Given the description of an element on the screen output the (x, y) to click on. 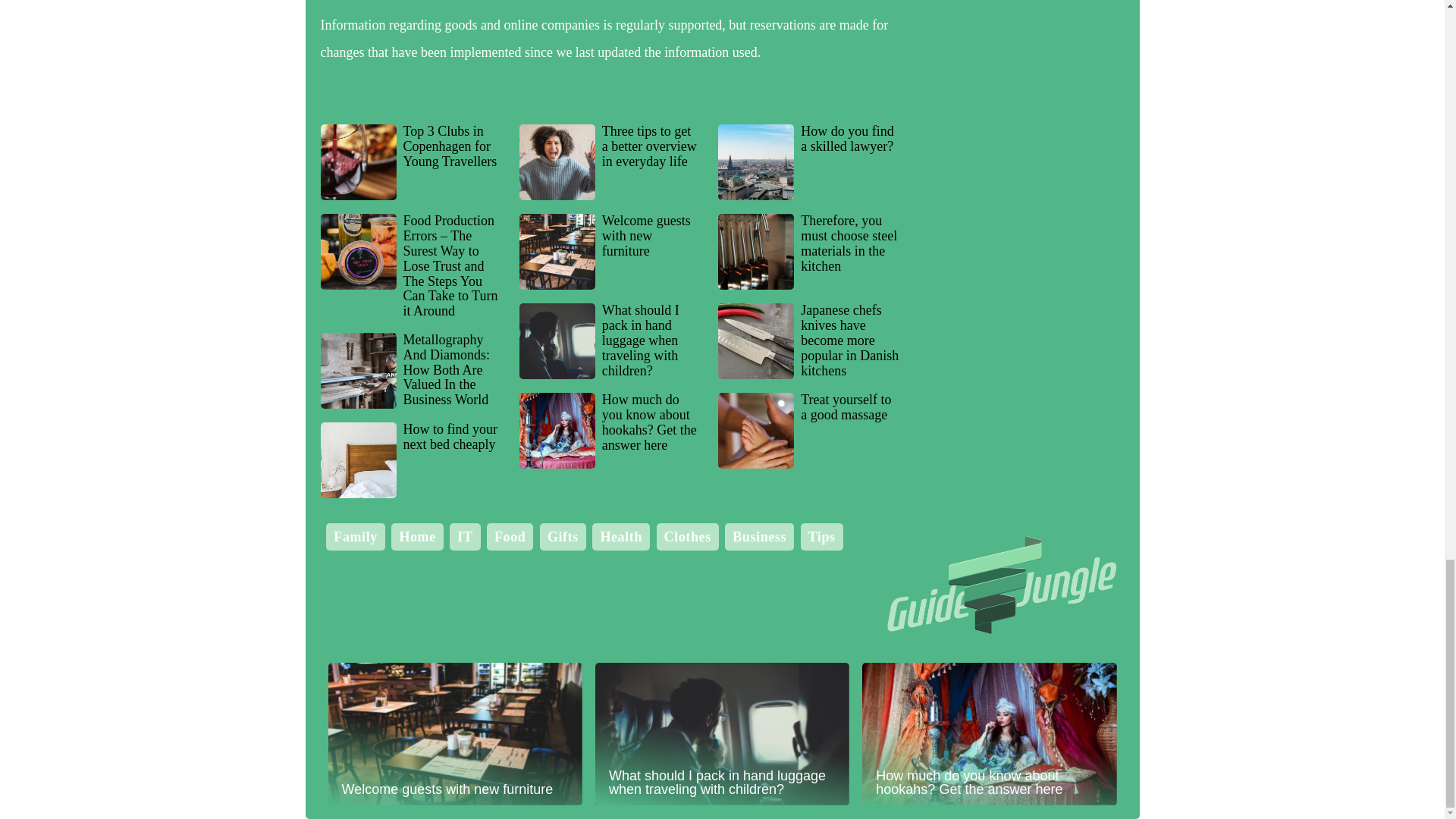
Welcome guests with new furniture (609, 251)
Treat yourself to a good massage (808, 430)
How to find your next bed cheaply (410, 460)
Therefore, you must choose steel materials in the kitchen (808, 251)
Top 3 Clubs in Copenhagen for Young Travellers (410, 162)
Three tips to get a better overview in everyday life (609, 162)
How do you find a skilled lawyer? (808, 162)
How much do you know about hookahs? Get the answer here (609, 430)
